Given the description of an element on the screen output the (x, y) to click on. 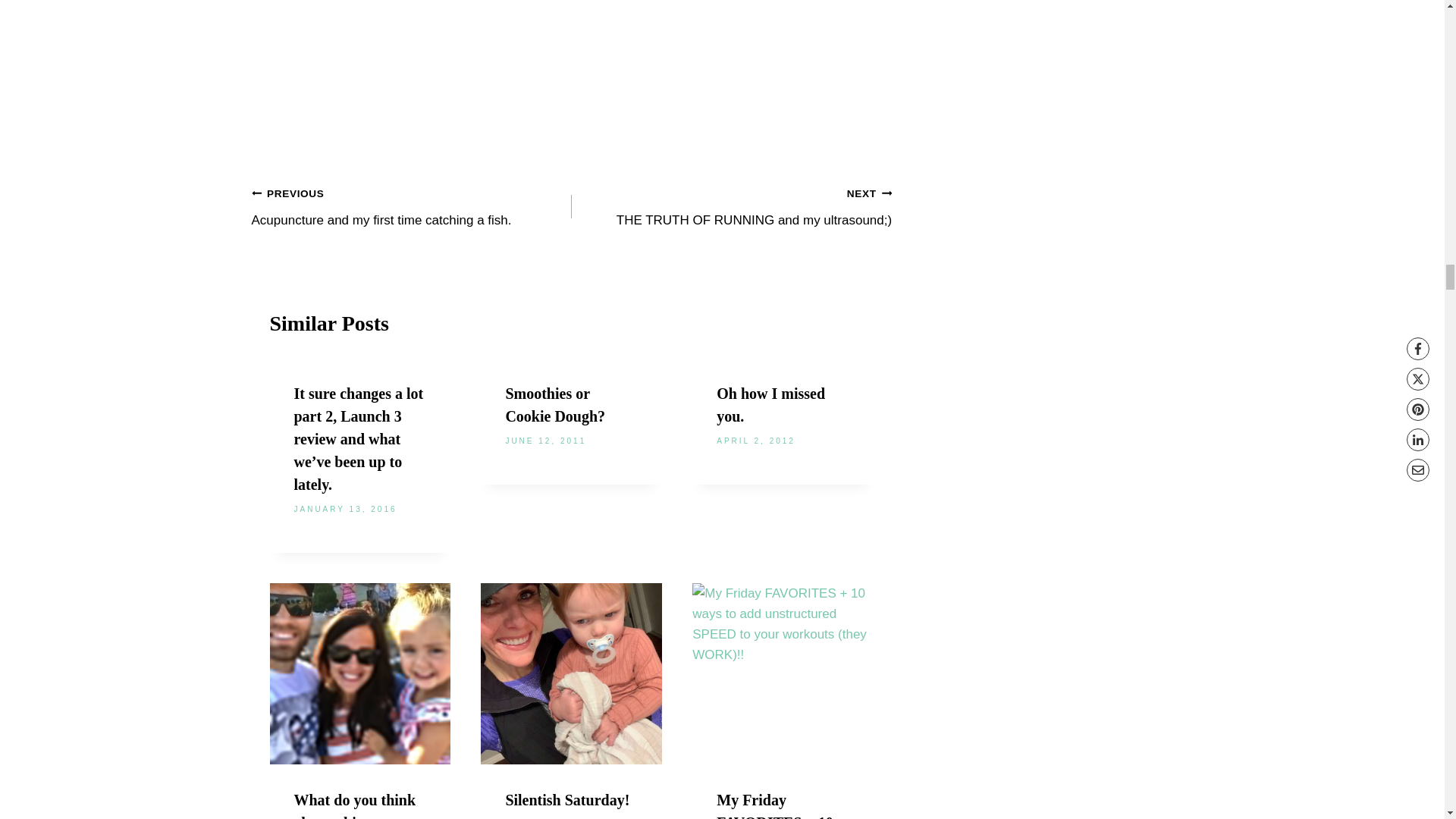
Smoothies or Cookie Dough? (555, 404)
Oh how I missed you. (411, 206)
